Given the description of an element on the screen output the (x, y) to click on. 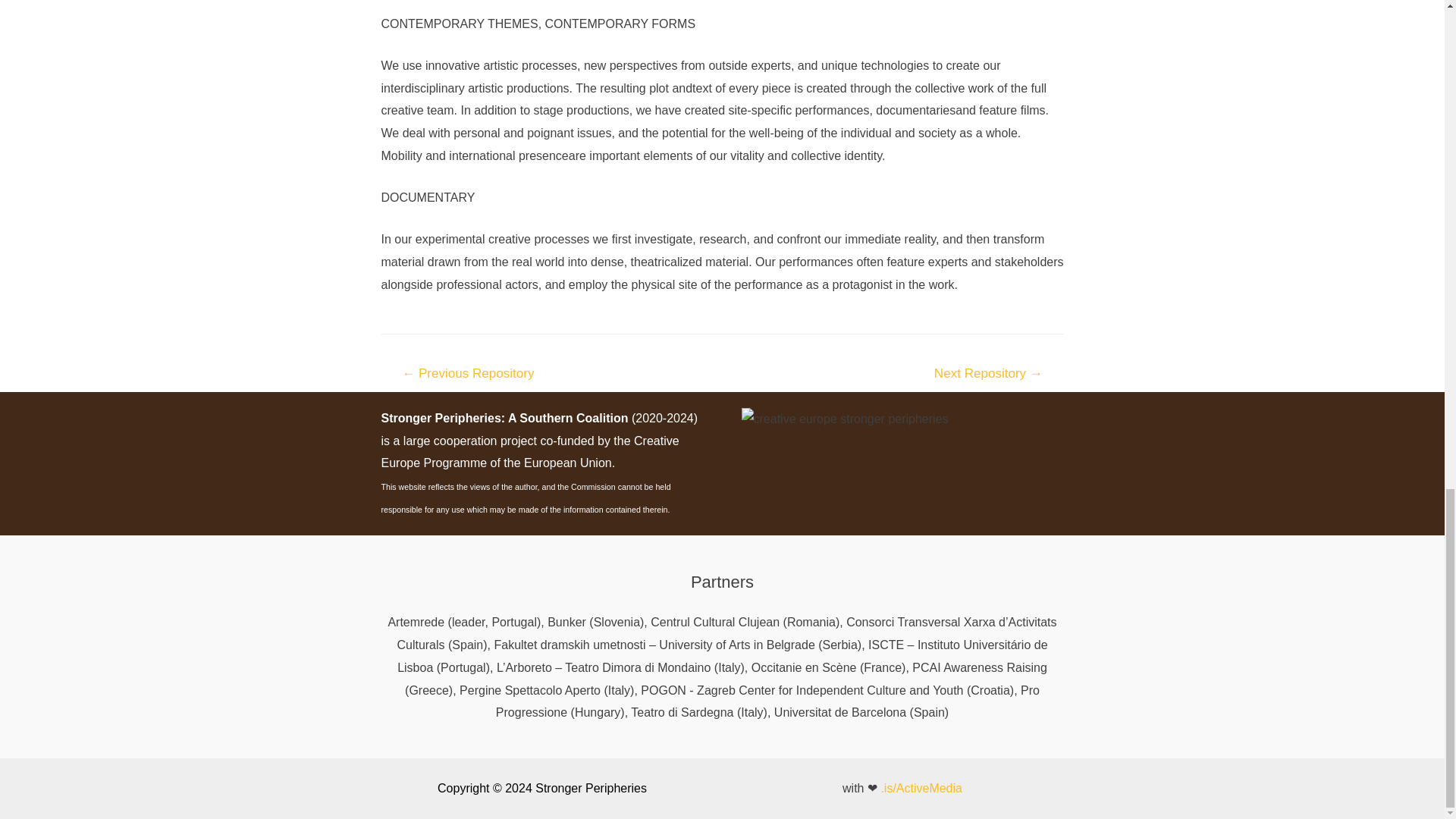
ActiveMedia Digital Designers (921, 788)
